Given the description of an element on the screen output the (x, y) to click on. 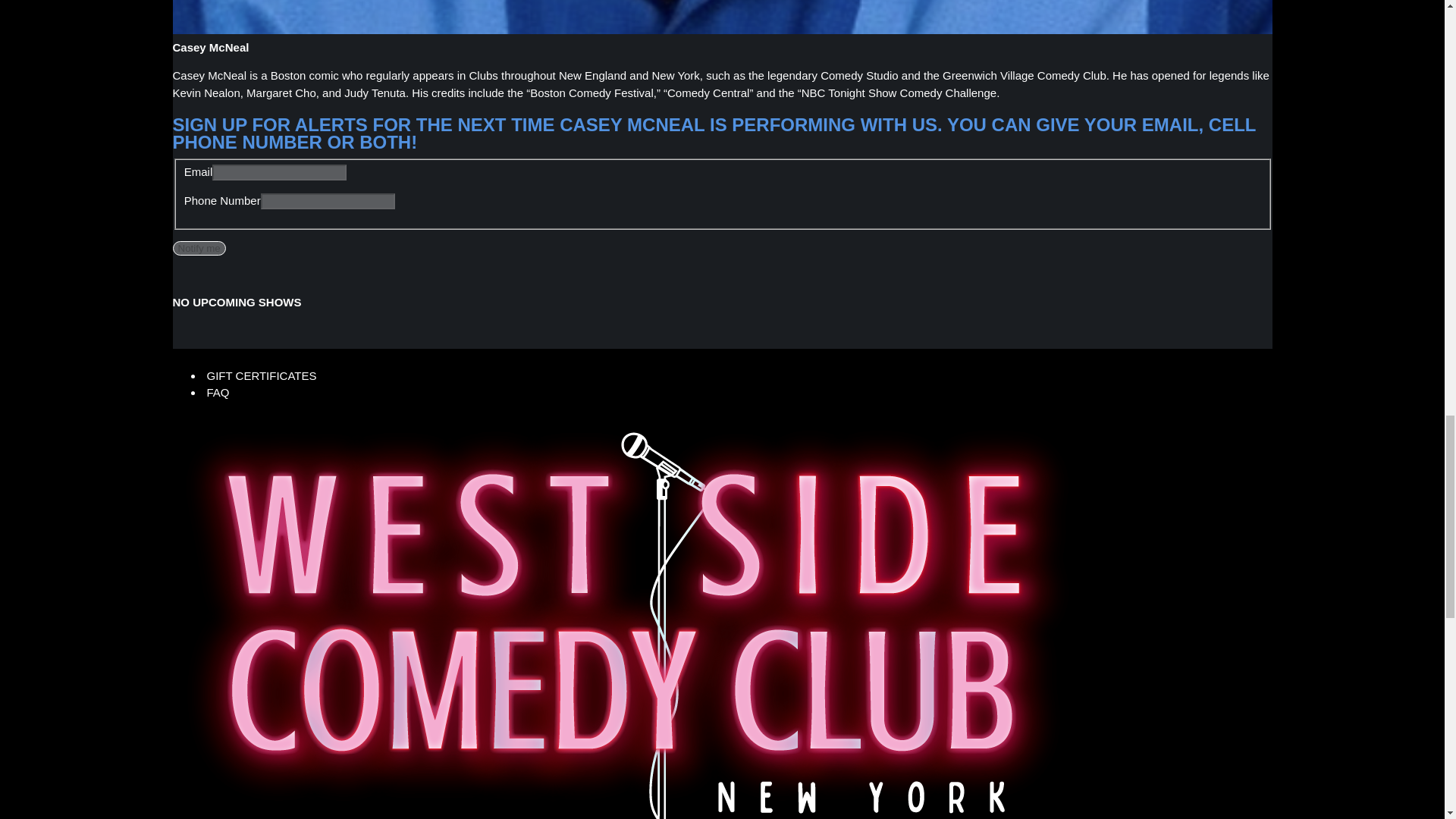
Notify me (199, 247)
GIFT CERTIFICATES (261, 375)
Casey McNeal (722, 17)
FAQ (217, 392)
